Given the description of an element on the screen output the (x, y) to click on. 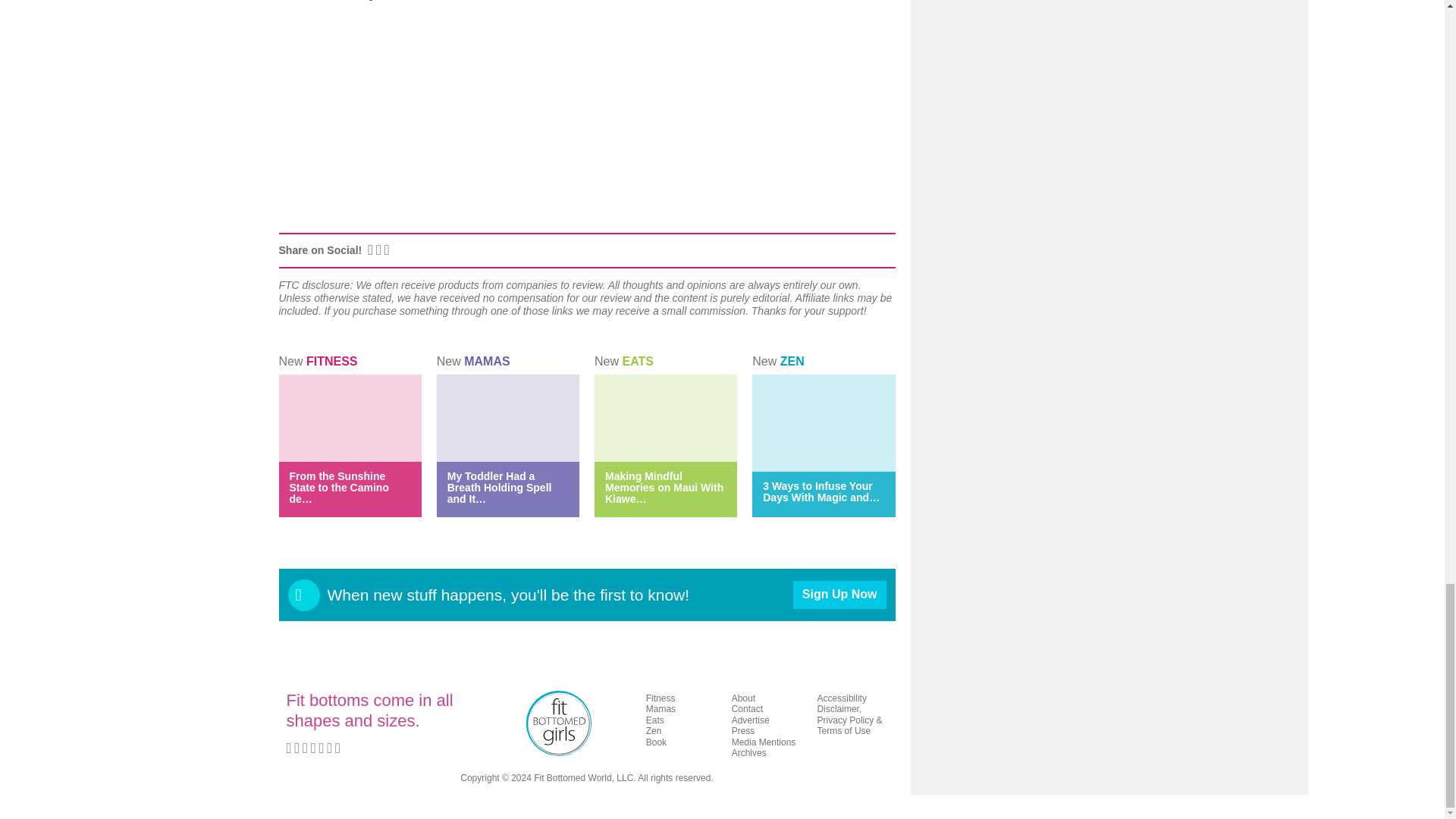
My Toddler Had a Breath Holding Spell and It Was Scary AF (498, 487)
Making Mindful Memories on Maui With Kiawe Outdoor (664, 487)
3 Ways to Infuse Your Days With Magic and Meaning (820, 491)
From the Sunshine State to the Camino de Santiago (338, 487)
